Given the description of an element on the screen output the (x, y) to click on. 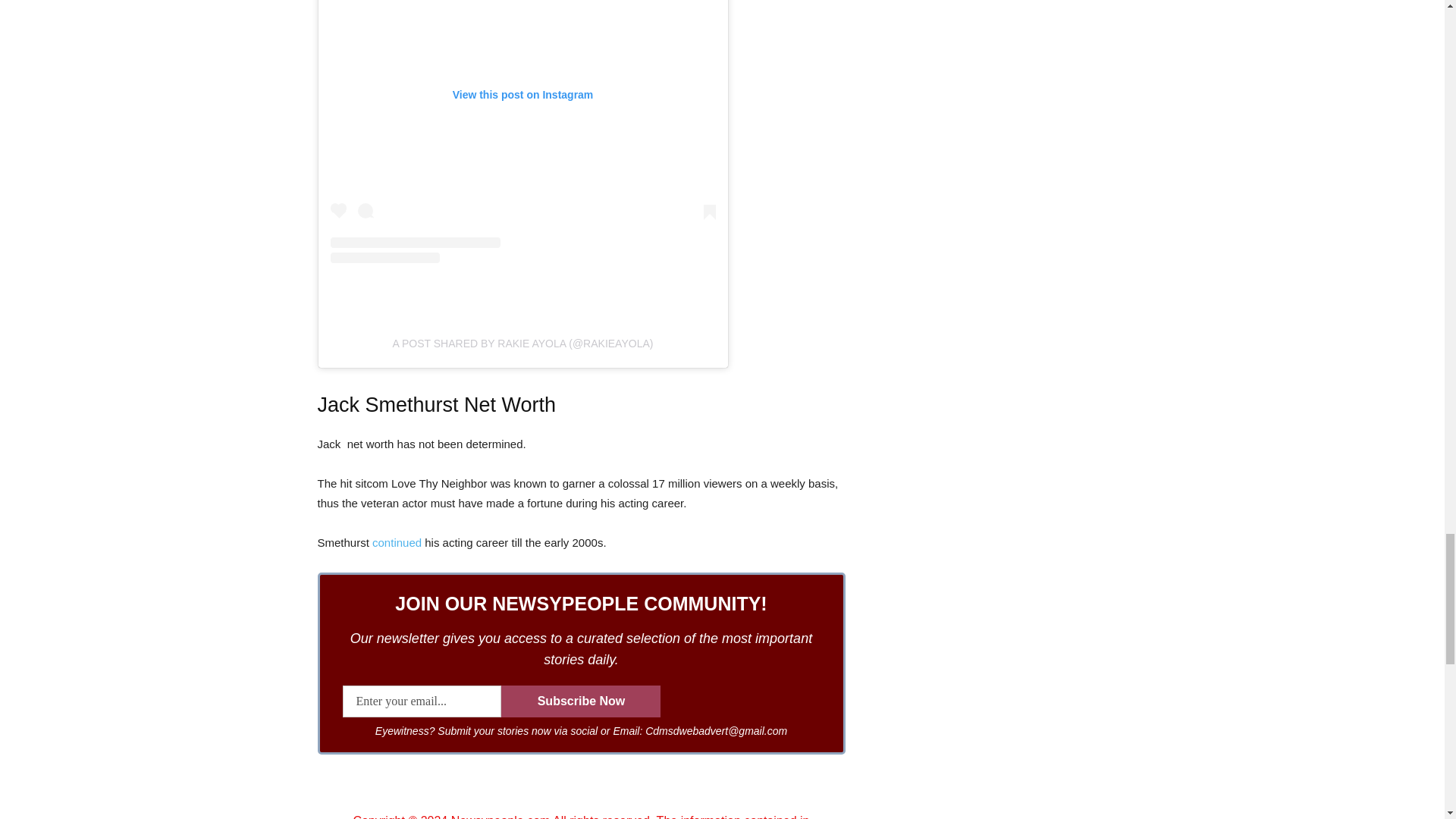
Subscribe Now (580, 701)
